Given the description of an element on the screen output the (x, y) to click on. 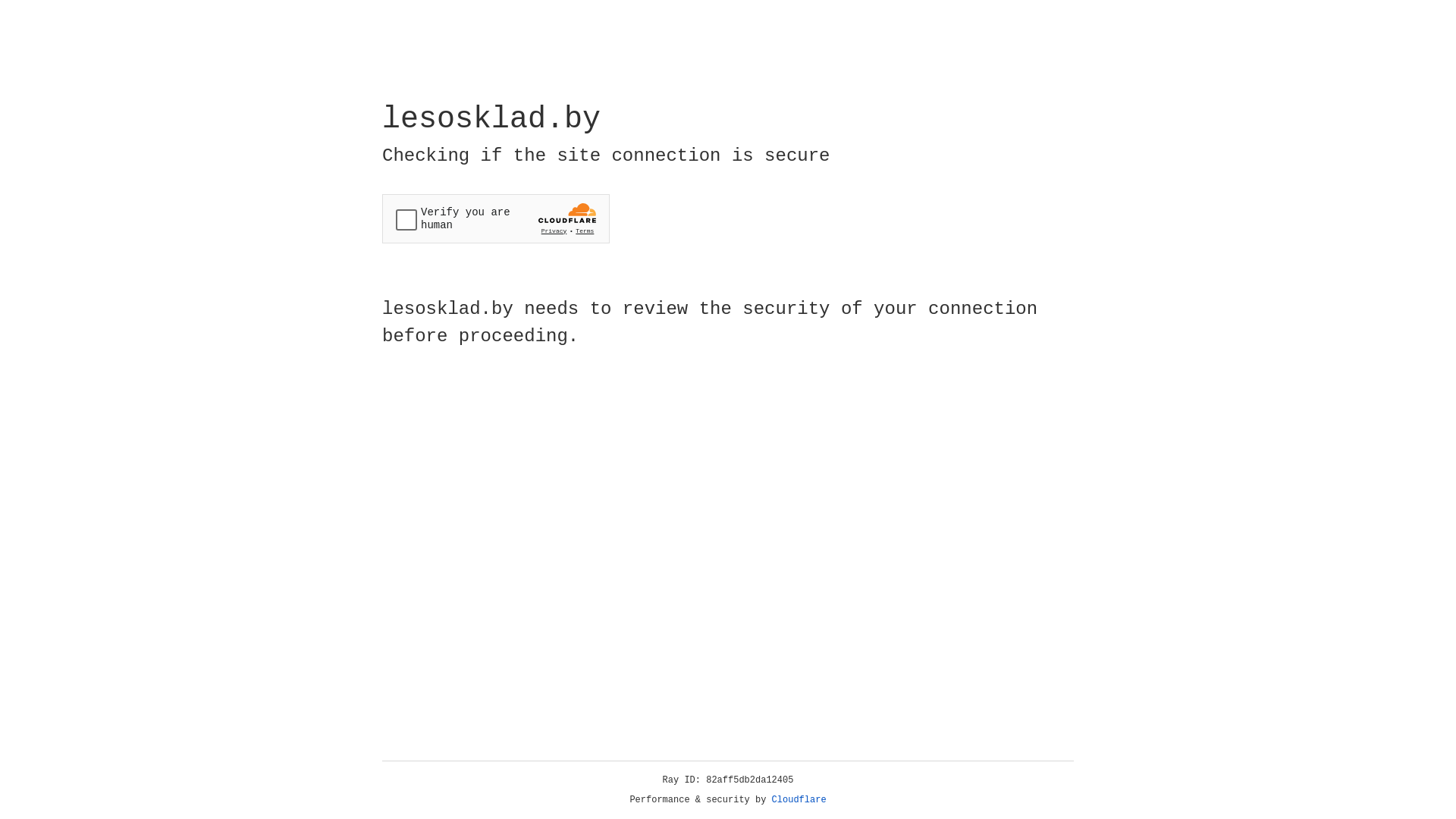
Cloudflare Element type: text (798, 799)
Widget containing a Cloudflare security challenge Element type: hover (495, 218)
